Given the description of an element on the screen output the (x, y) to click on. 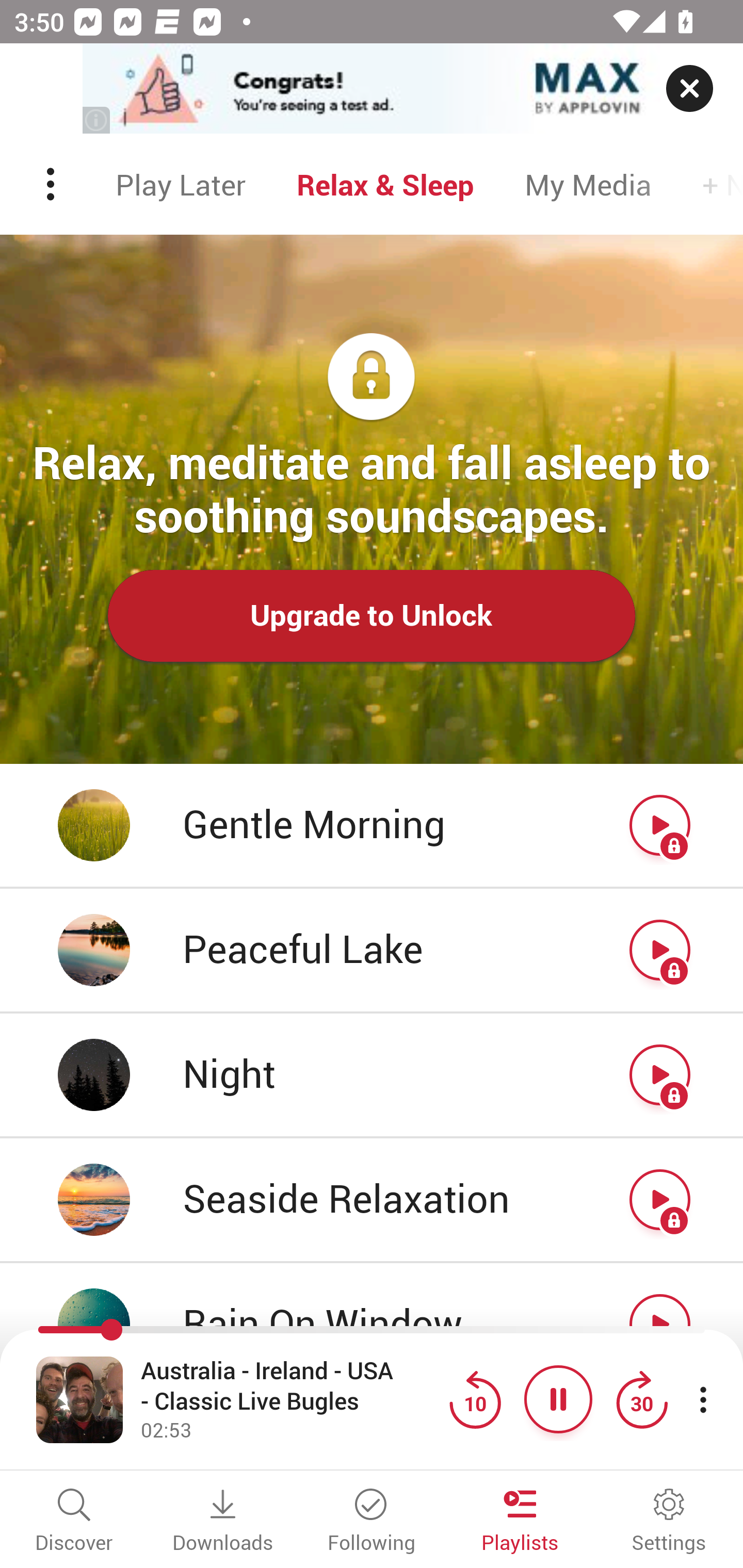
app-monetization (371, 88)
(i) (96, 119)
Menu (52, 184)
Play Later (180, 184)
Relax & Sleep (385, 184)
My Media (587, 184)
Upgrade to Unlock (371, 615)
Gentle Morning Play button (371, 826)
Peaceful Lake Play button (371, 950)
Night Play button (371, 1075)
Seaside Relaxation Play button (371, 1200)
Open fullscreen player (79, 1399)
More player controls (703, 1399)
Australia - Ireland - USA - Classic Live Bugles (290, 1385)
Pause button (558, 1398)
Jump back (475, 1399)
Jump forward (641, 1399)
Discover (74, 1521)
Downloads (222, 1521)
Following (371, 1521)
Playlists (519, 1521)
Settings (668, 1521)
